Given the description of an element on the screen output the (x, y) to click on. 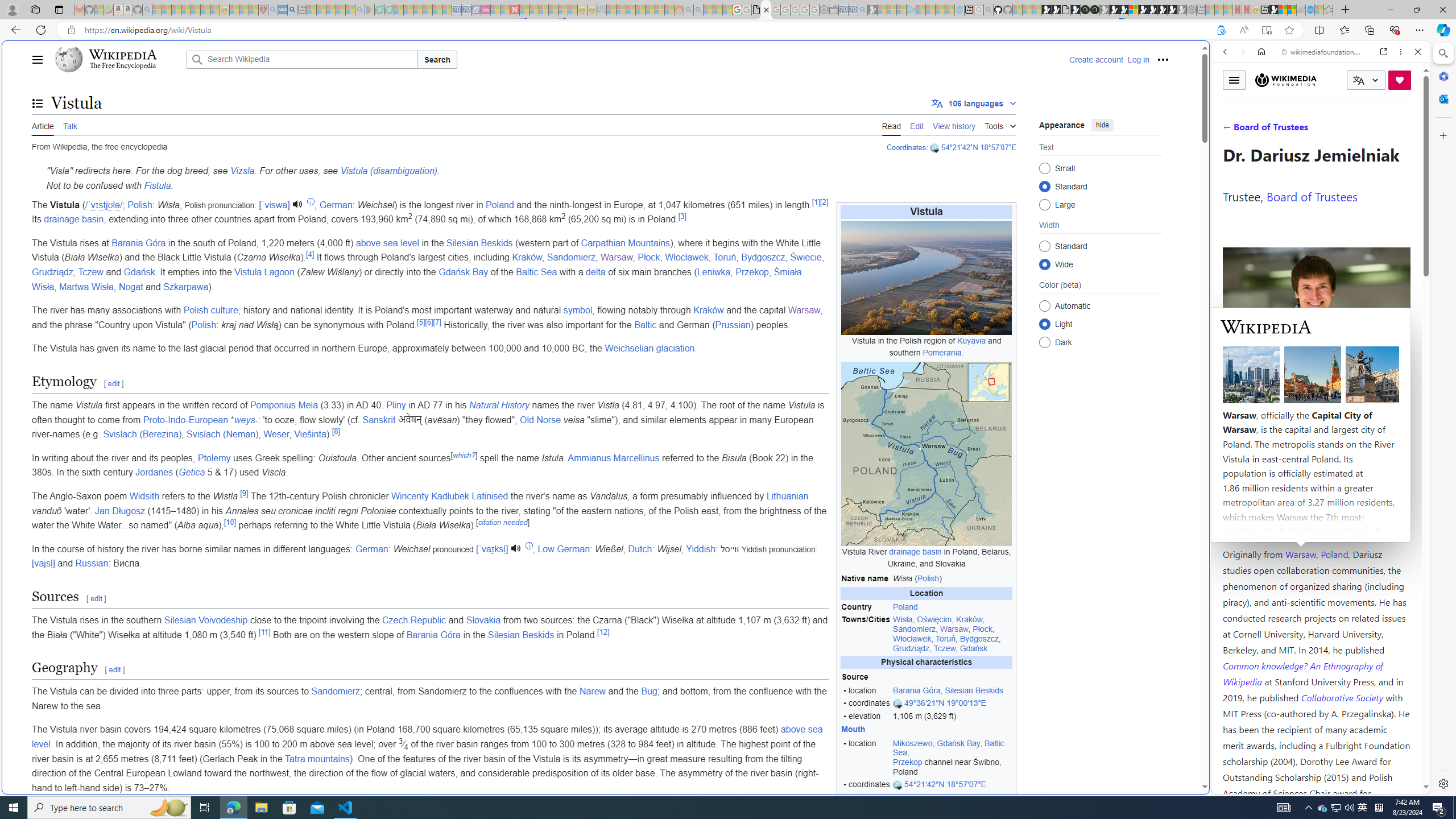
[7] (436, 321)
Search Filter, IMAGES (1262, 129)
Location (926, 593)
Play Cave FRVR in your browser | Games from Microsoft Start (922, 242)
google_privacy_policy_zh-CN.pdf (1118, 683)
Vistula - Wikipedia (766, 9)
[3] (681, 215)
